Given the description of an element on the screen output the (x, y) to click on. 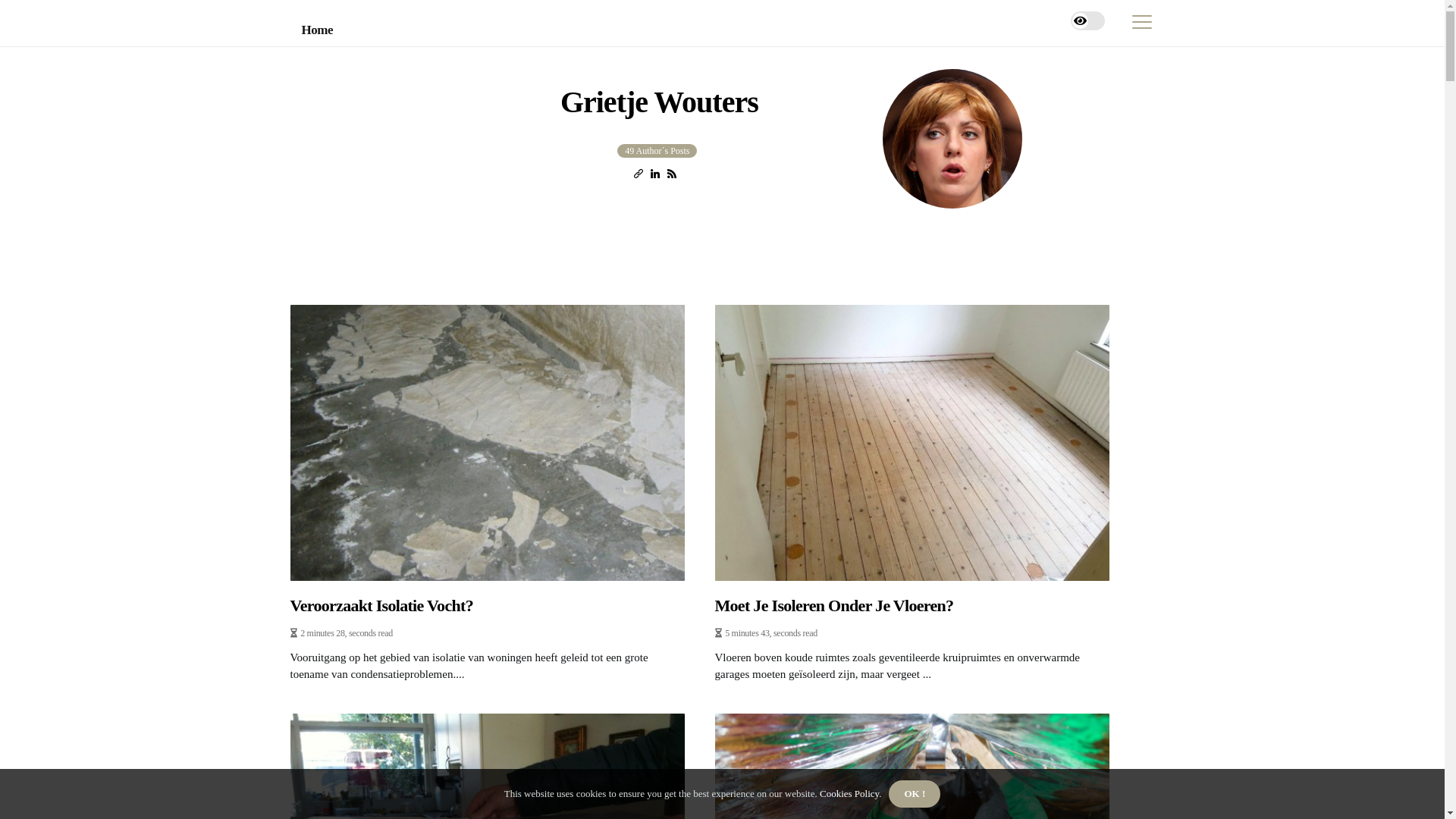
Home Element type: text (317, 30)
Cookies Policy Element type: text (848, 793)
Veroorzaakt Isolatie Vocht? Element type: text (486, 605)
Moet Je Isoleren Onder Je Vloeren? Element type: text (911, 605)
